Given the description of an element on the screen output the (x, y) to click on. 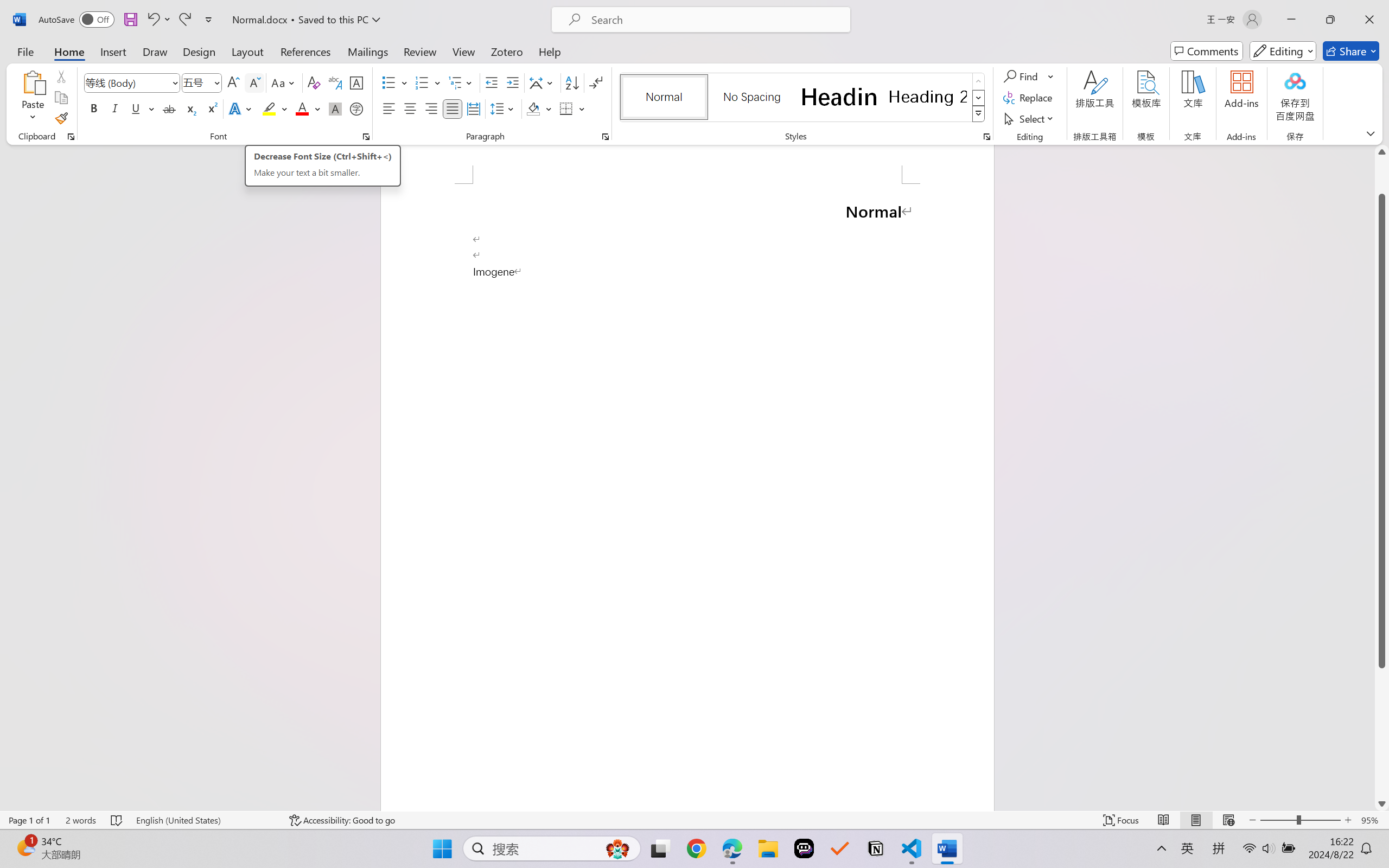
Enclose Characters... (356, 108)
Subscript (190, 108)
Clear Formatting (313, 82)
Shrink Font (253, 82)
Line and Paragraph Spacing (503, 108)
AutomationID: QuickStylesGallery (802, 97)
Help (549, 51)
